Given the description of an element on the screen output the (x, y) to click on. 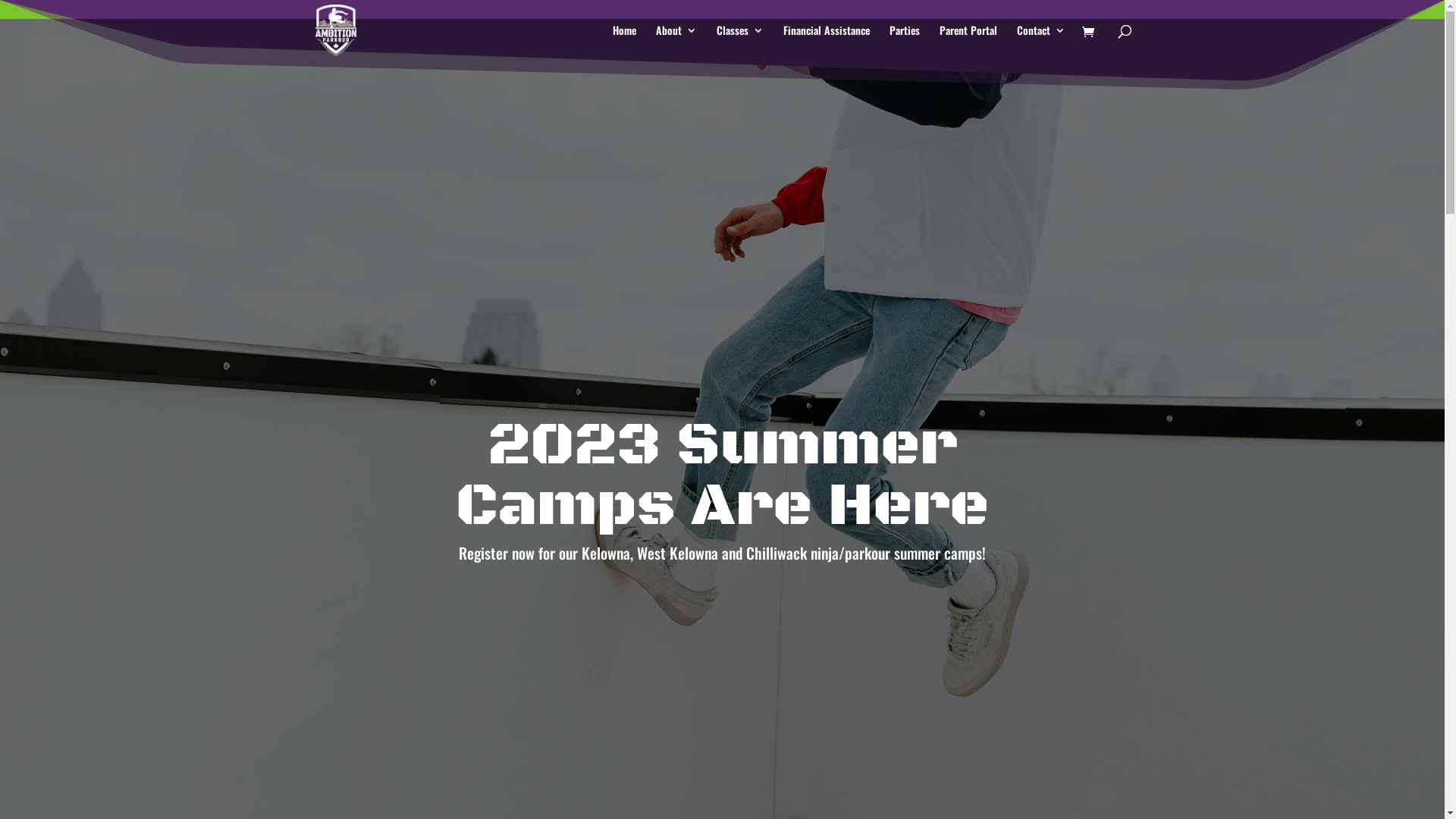
Parties Element type: text (903, 42)
Contact Element type: text (1040, 42)
Financial Assistance Element type: text (825, 42)
Classes Element type: text (738, 42)
Parent Portal Element type: text (967, 42)
Home Element type: text (624, 42)
About Element type: text (675, 42)
